Given the description of an element on the screen output the (x, y) to click on. 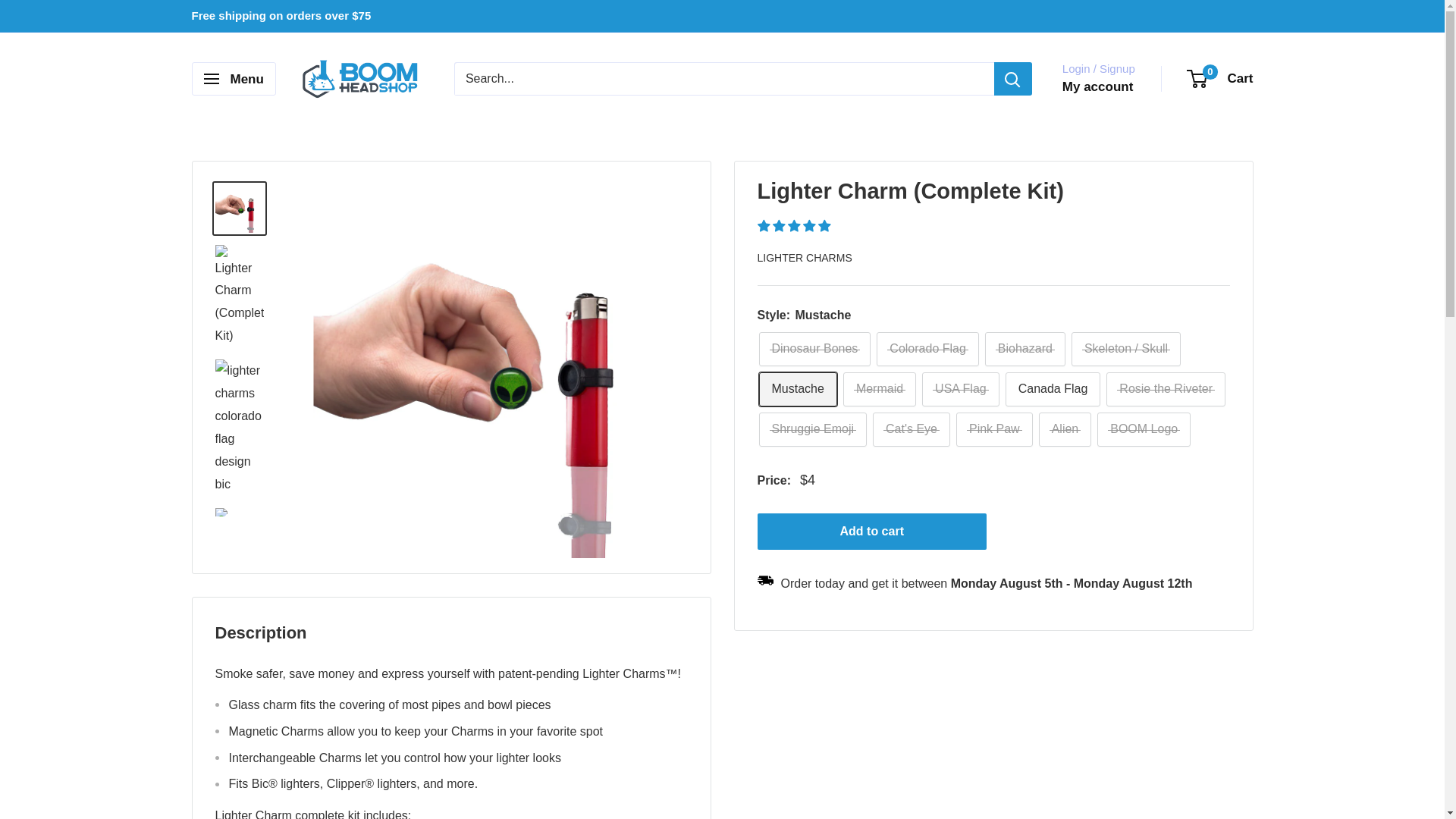
Biohazard (1025, 349)
Mermaid (879, 389)
Shruggie Emoji (812, 429)
Cat's Eye (911, 429)
USA Flag (959, 389)
Pink Paw (994, 429)
Mustache (796, 389)
Rosie the Riveter (1165, 389)
Colorado Flag (927, 349)
Dinosaur Bones (814, 349)
BOOM Logo (1144, 429)
Alien (1065, 429)
Canada Flag (1053, 389)
